Given the description of an element on the screen output the (x, y) to click on. 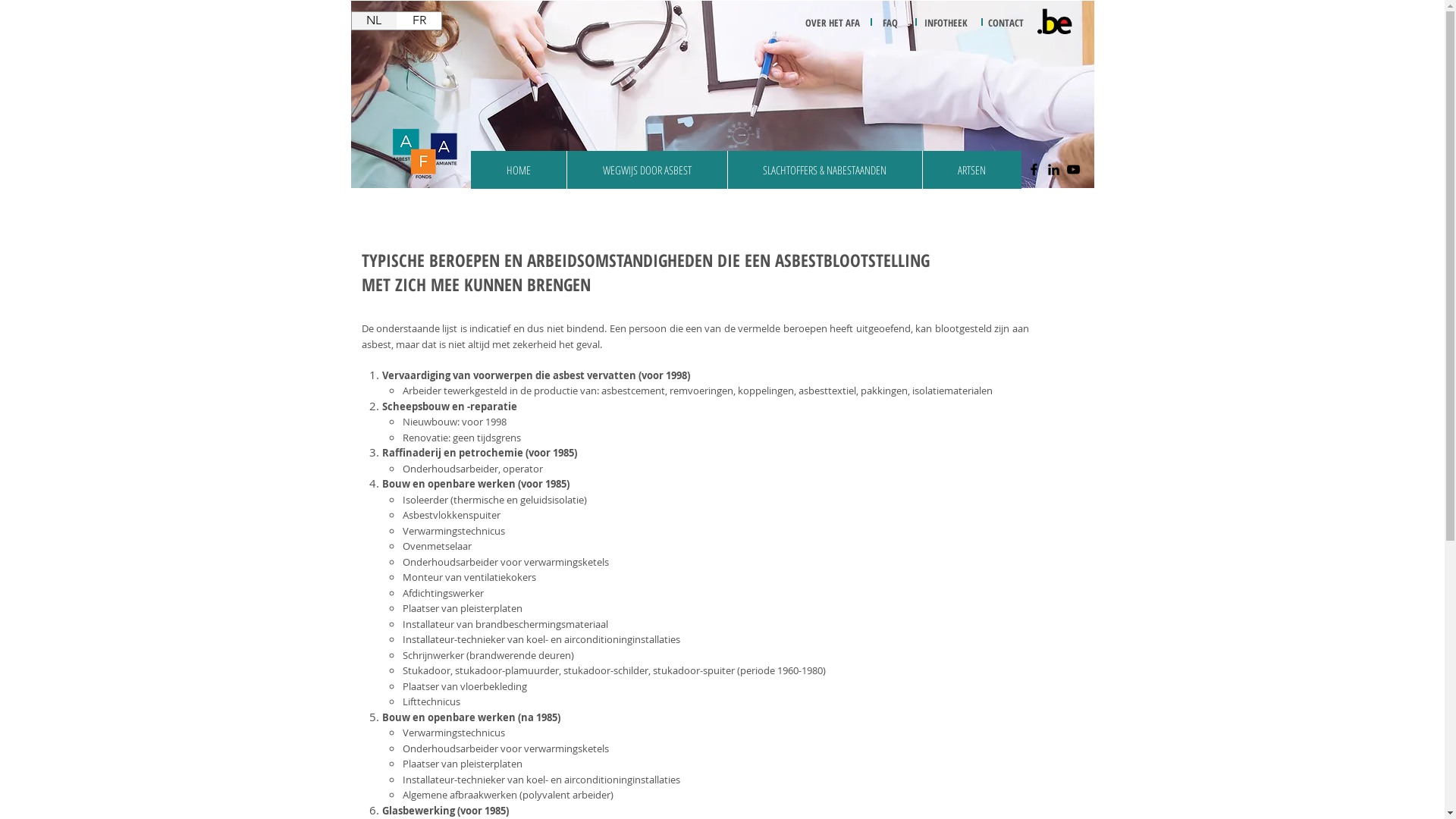
INFOTHEEK Element type: text (944, 22)
HOME Element type: text (517, 169)
OVER HET AFA Element type: text (832, 22)
Site Search Element type: hover (1002, 135)
FAQ Element type: text (889, 22)
FR Element type: text (418, 20)
NL Element type: text (374, 20)
CONTACT Element type: text (1004, 22)
WEGWIJS DOOR ASBEST Element type: text (645, 169)
ARTSEN Element type: text (971, 169)
SLACHTOFFERS & NABESTAANDEN Element type: text (823, 169)
